Given the description of an element on the screen output the (x, y) to click on. 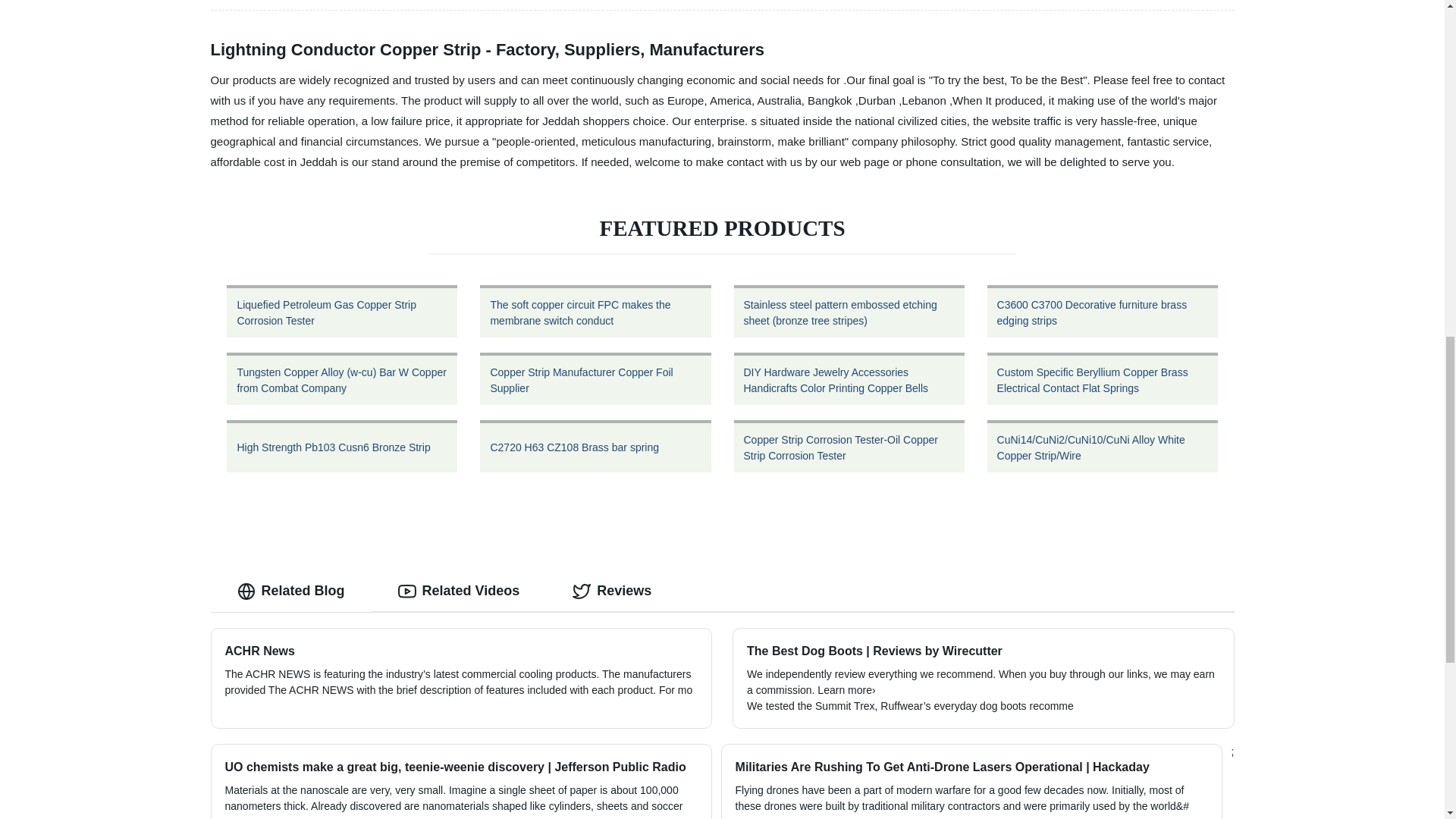
Liquefied Petroleum Gas Copper Strip Corrosion Tester (341, 310)
Copper Strip Manufacturer Copper Foil Supplier (595, 378)
C3600 C3700 Decorative furniture brass edging strips (1101, 310)
High Strength Pb103 Cusn6 Bronze Strip (341, 445)
